Given the description of an element on the screen output the (x, y) to click on. 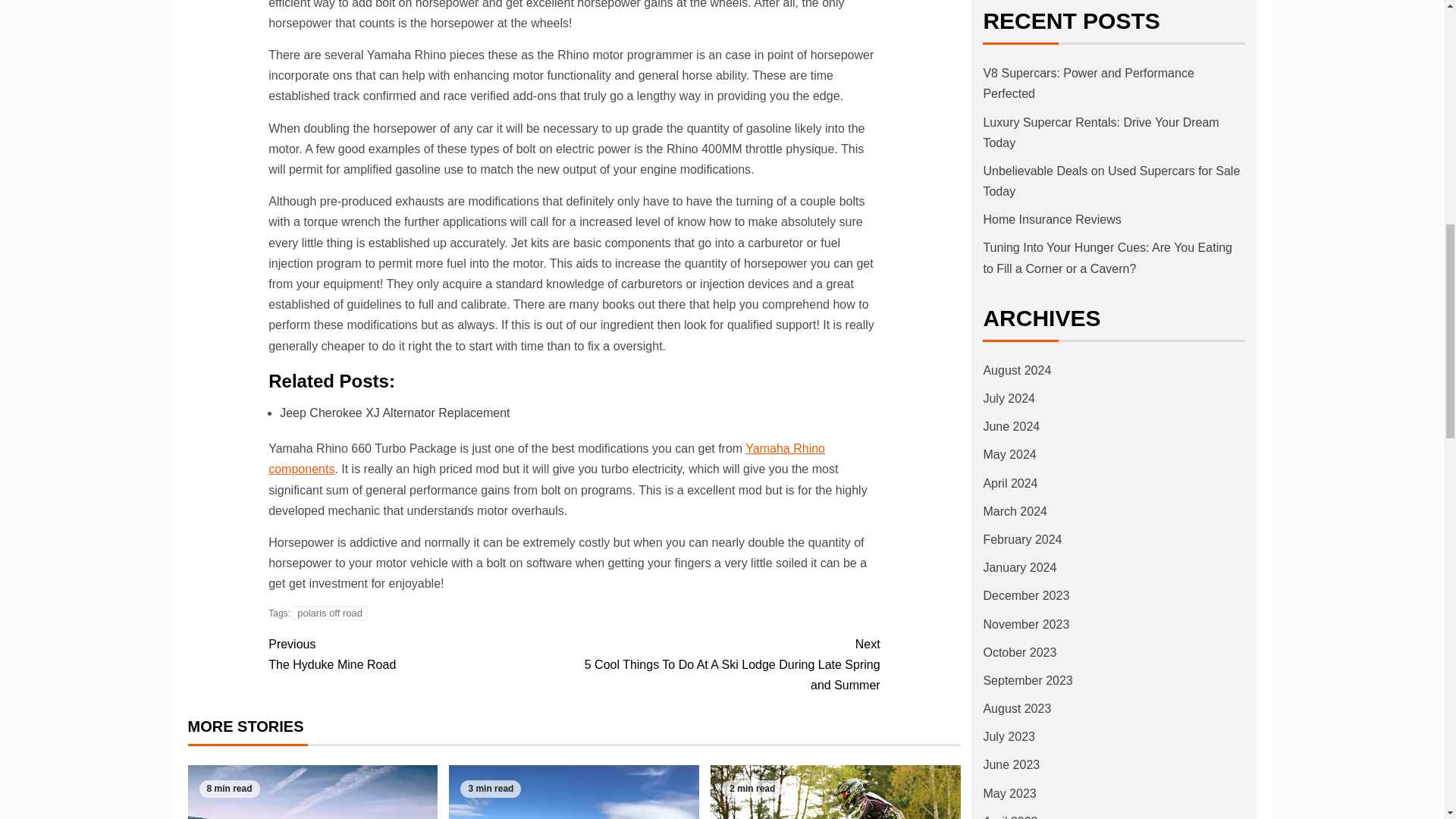
Yamaha Rhino components (420, 653)
Jeep Cherokee XJ Alternator Replacement (546, 458)
polaris off road (394, 412)
